Given the description of an element on the screen output the (x, y) to click on. 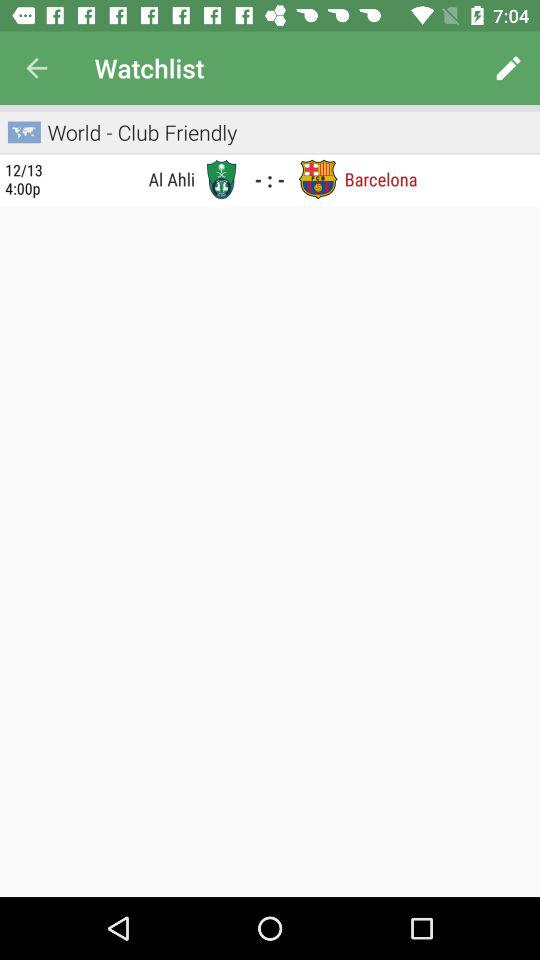
click icon above the - : - (270, 153)
